Given the description of an element on the screen output the (x, y) to click on. 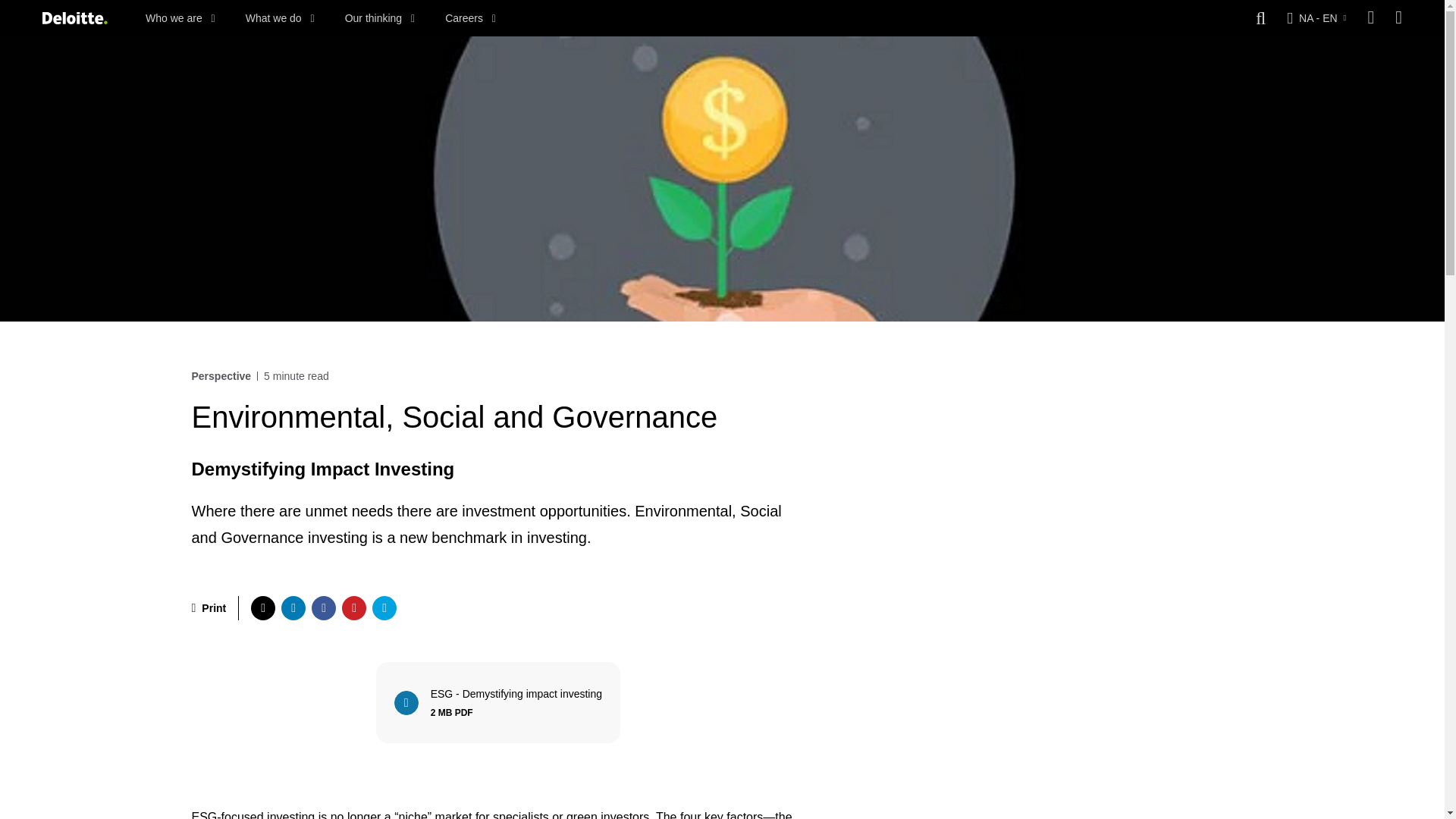
Our thinking (379, 18)
Who we are (180, 18)
share via pinterest (354, 607)
share via linkedin (293, 607)
Deloitte (500, 701)
share via twitter (74, 18)
What we do (262, 607)
share via facebook (500, 714)
Join My Deloitte (280, 18)
Careers (323, 607)
share via... (1398, 18)
Print (470, 18)
